Given the description of an element on the screen output the (x, y) to click on. 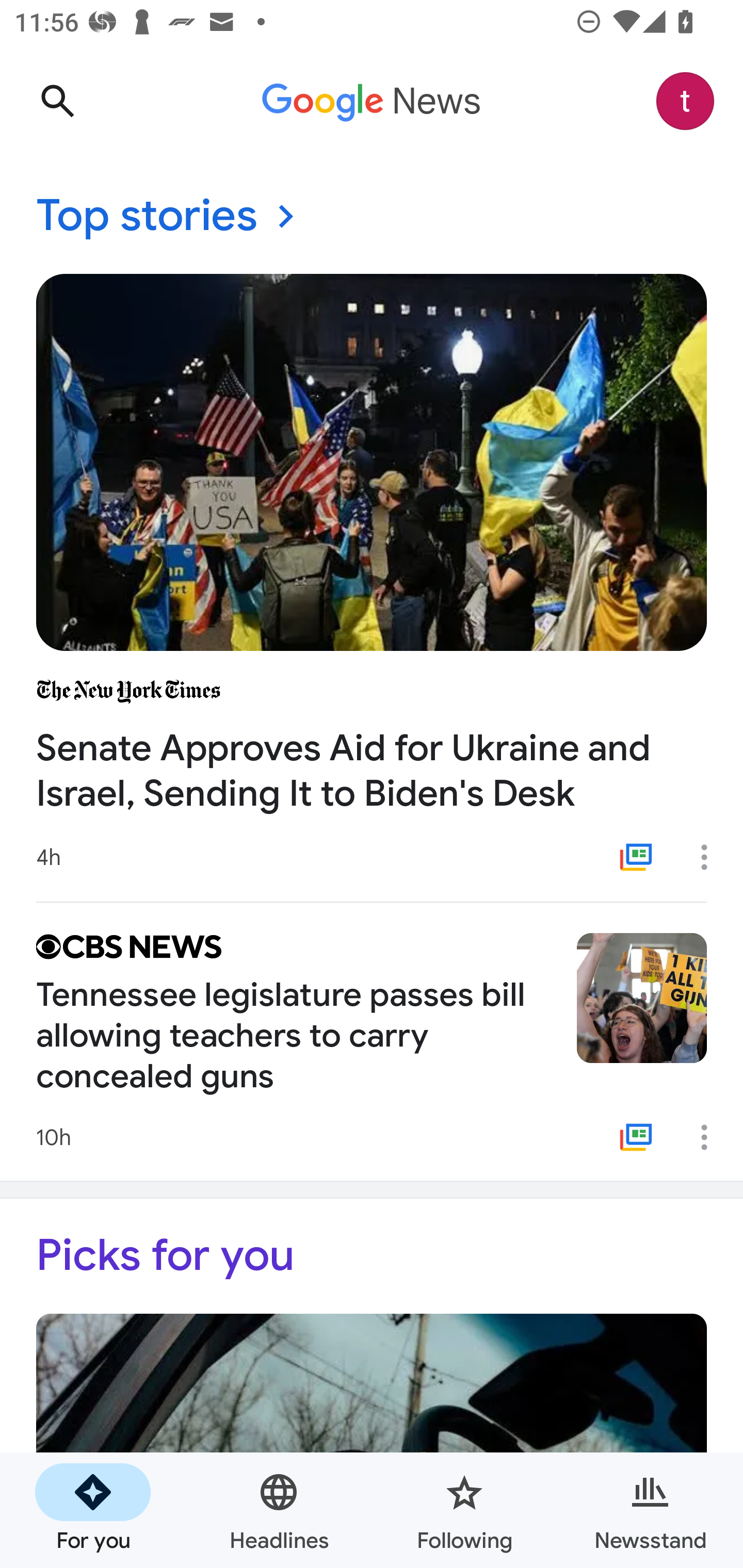
Search (57, 100)
Top stories (371, 216)
More options (711, 856)
More options (711, 1137)
For you (92, 1509)
Headlines (278, 1509)
Following (464, 1509)
Newsstand (650, 1509)
